Given the description of an element on the screen output the (x, y) to click on. 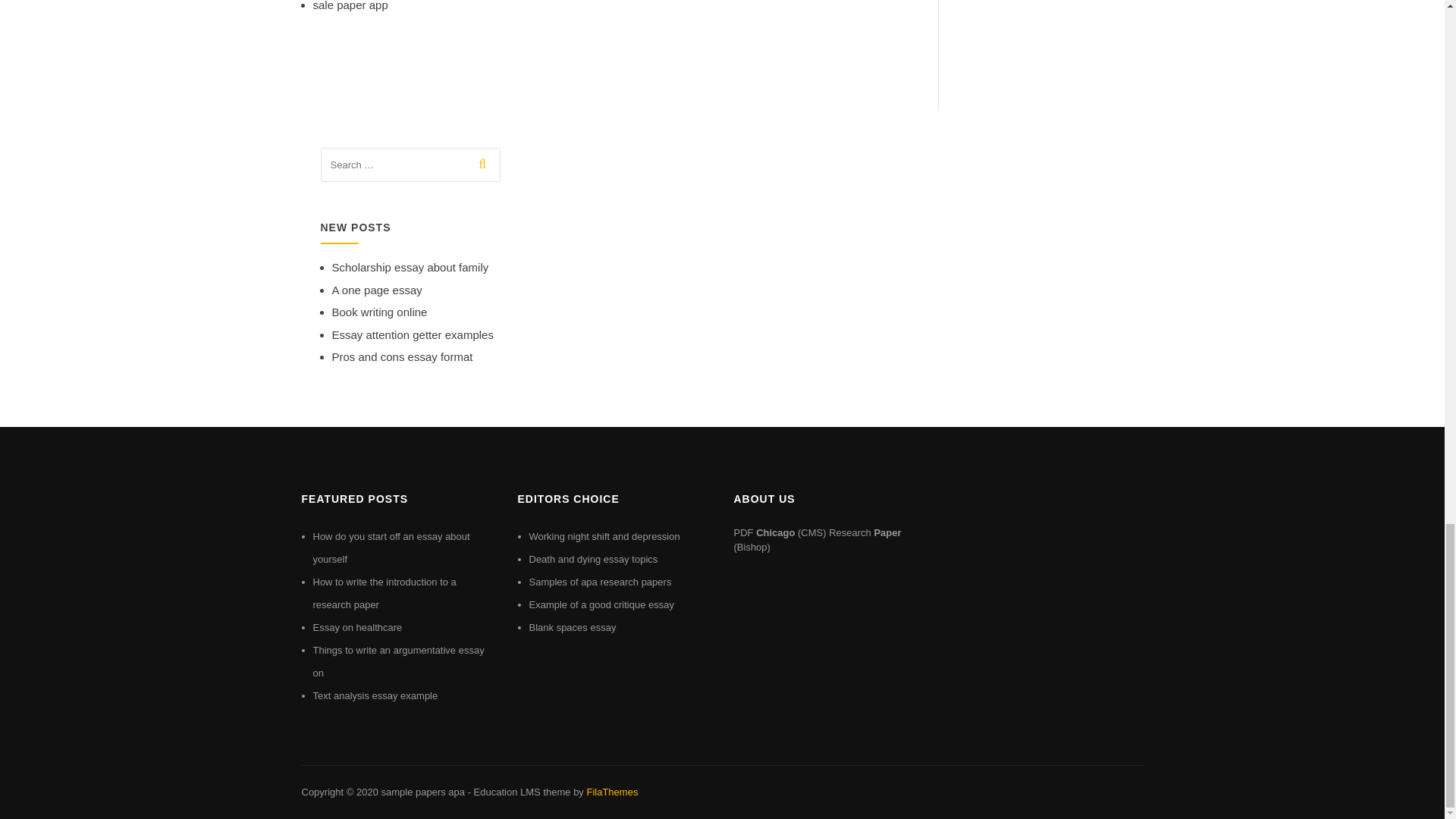
Essay attention getter examples (412, 334)
Example of a good critique essay (602, 604)
Blank spaces essay (572, 627)
How to write the introduction to a research paper (384, 593)
Essay on healthcare (357, 627)
Text analysis essay example (375, 695)
How do you start off an essay about yourself (390, 547)
Book writing online (379, 311)
Scholarship essay about family (410, 267)
sample papers apa (422, 791)
